Given the description of an element on the screen output the (x, y) to click on. 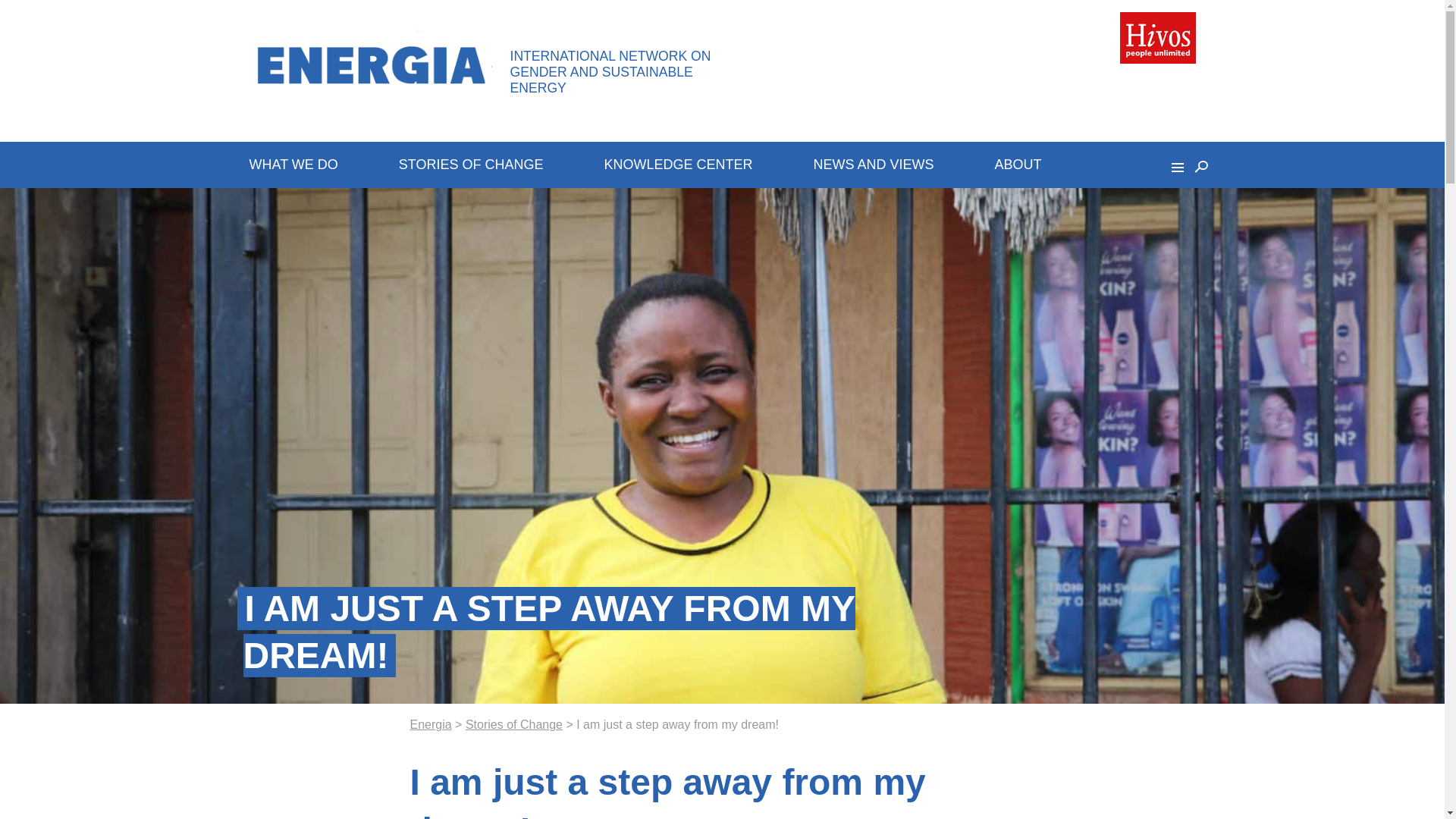
Go to Stories of Change. (513, 724)
Go to Energia. (430, 724)
WHAT WE DO (292, 164)
